Given the description of an element on the screen output the (x, y) to click on. 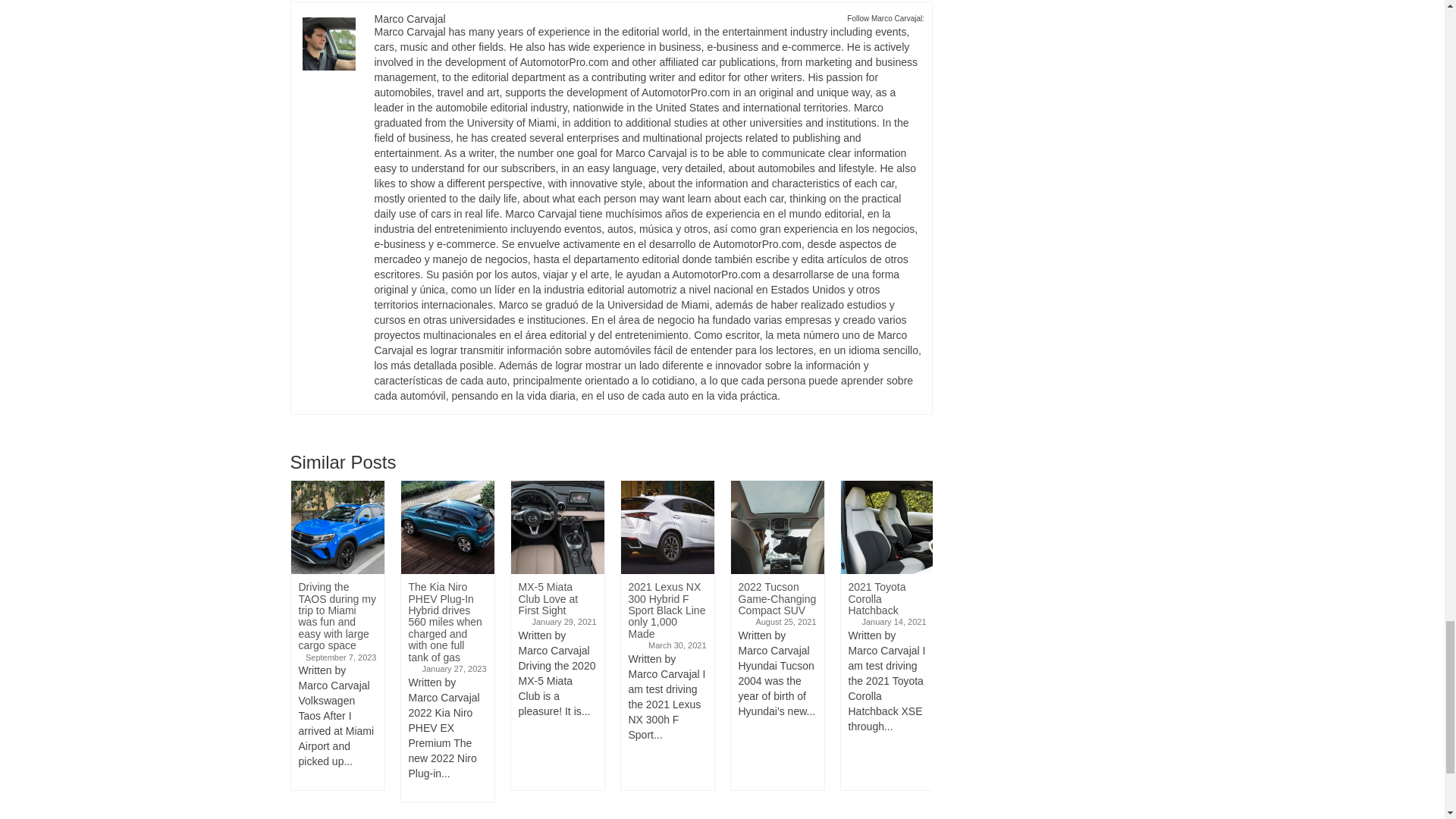
Posts by Marco Carvajal (409, 19)
MX-5 Miata Club Love at First Sight (557, 527)
2021 Lexus NX 300 Hybrid F Sport Black Line only 1,000 Made (666, 527)
